Given the description of an element on the screen output the (x, y) to click on. 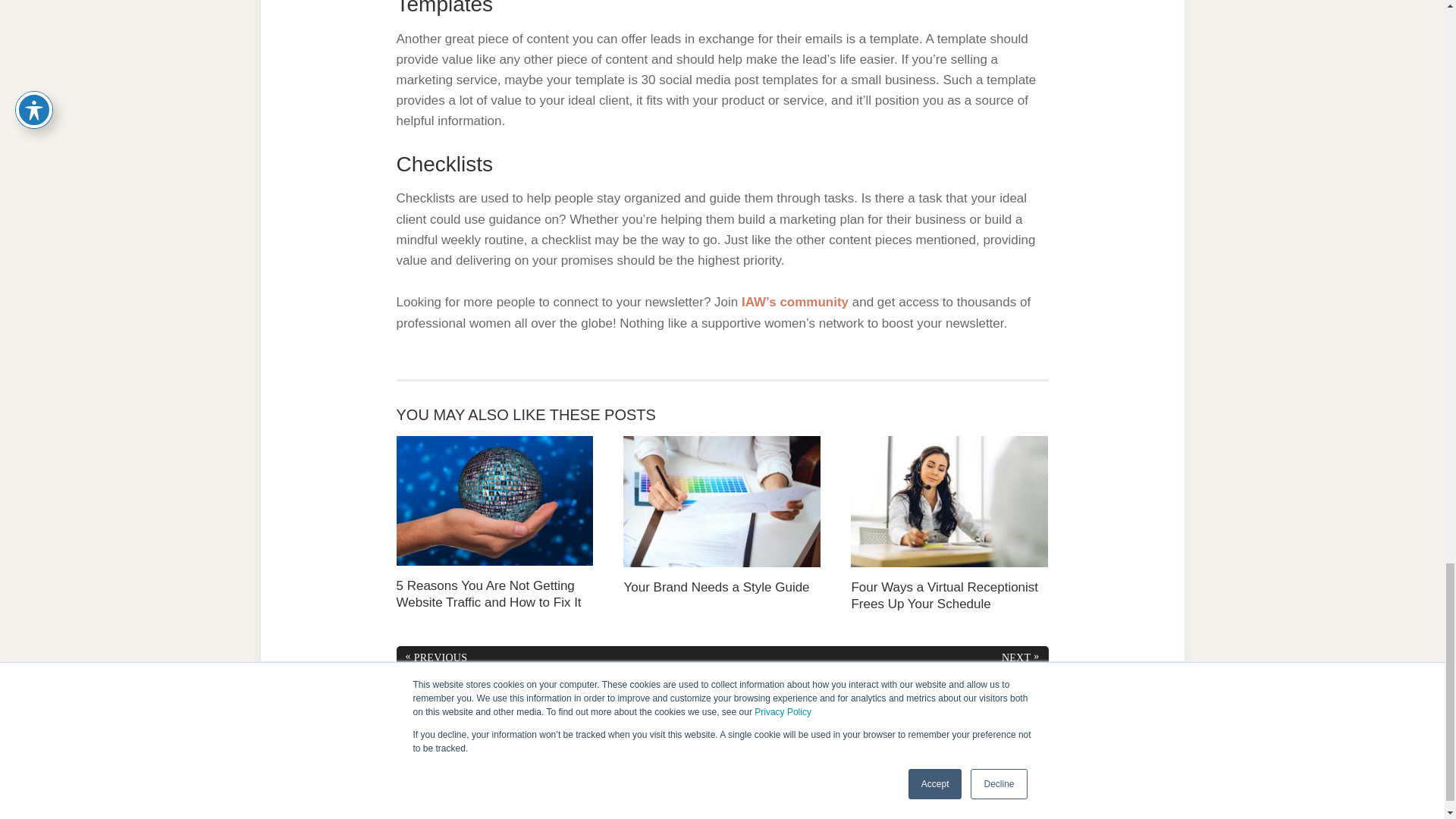
Your Brand Needs a Style Guide (722, 515)
Four Ways a Virtual Receptionist Frees Up Your Schedule (949, 524)
Four Ways a Virtual Receptionist Frees Up Your Schedule (949, 524)
Your Brand Needs a Style Guide (722, 515)
